Given the description of an element on the screen output the (x, y) to click on. 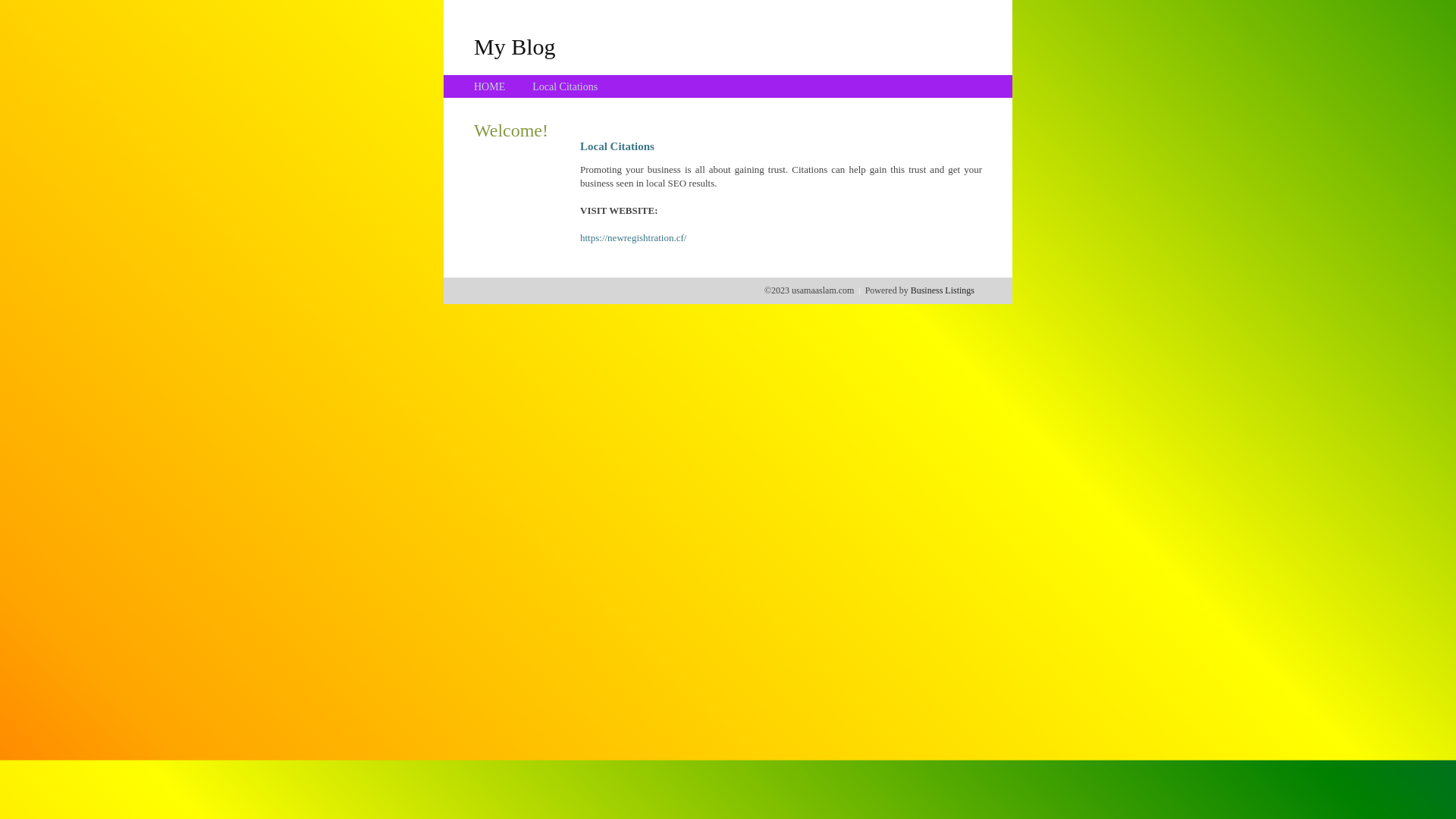
Local Citations Element type: text (564, 86)
HOME Element type: text (489, 86)
https://newregishtration.cf/ Element type: text (633, 237)
My Blog Element type: text (514, 46)
Business Listings Element type: text (942, 290)
